Given the description of an element on the screen output the (x, y) to click on. 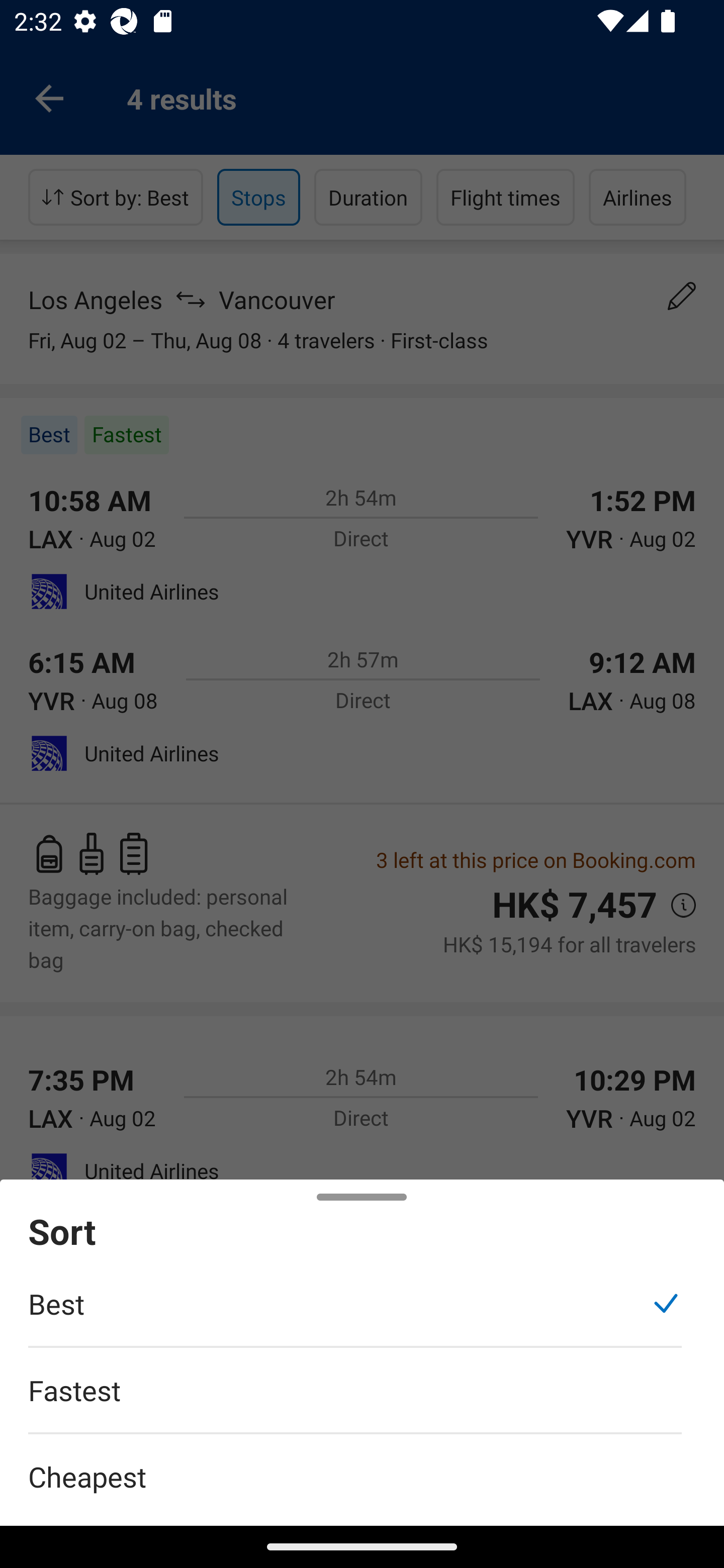
Best (355, 1313)
Fastest (355, 1399)
Cheapest (362, 1465)
